Given the description of an element on the screen output the (x, y) to click on. 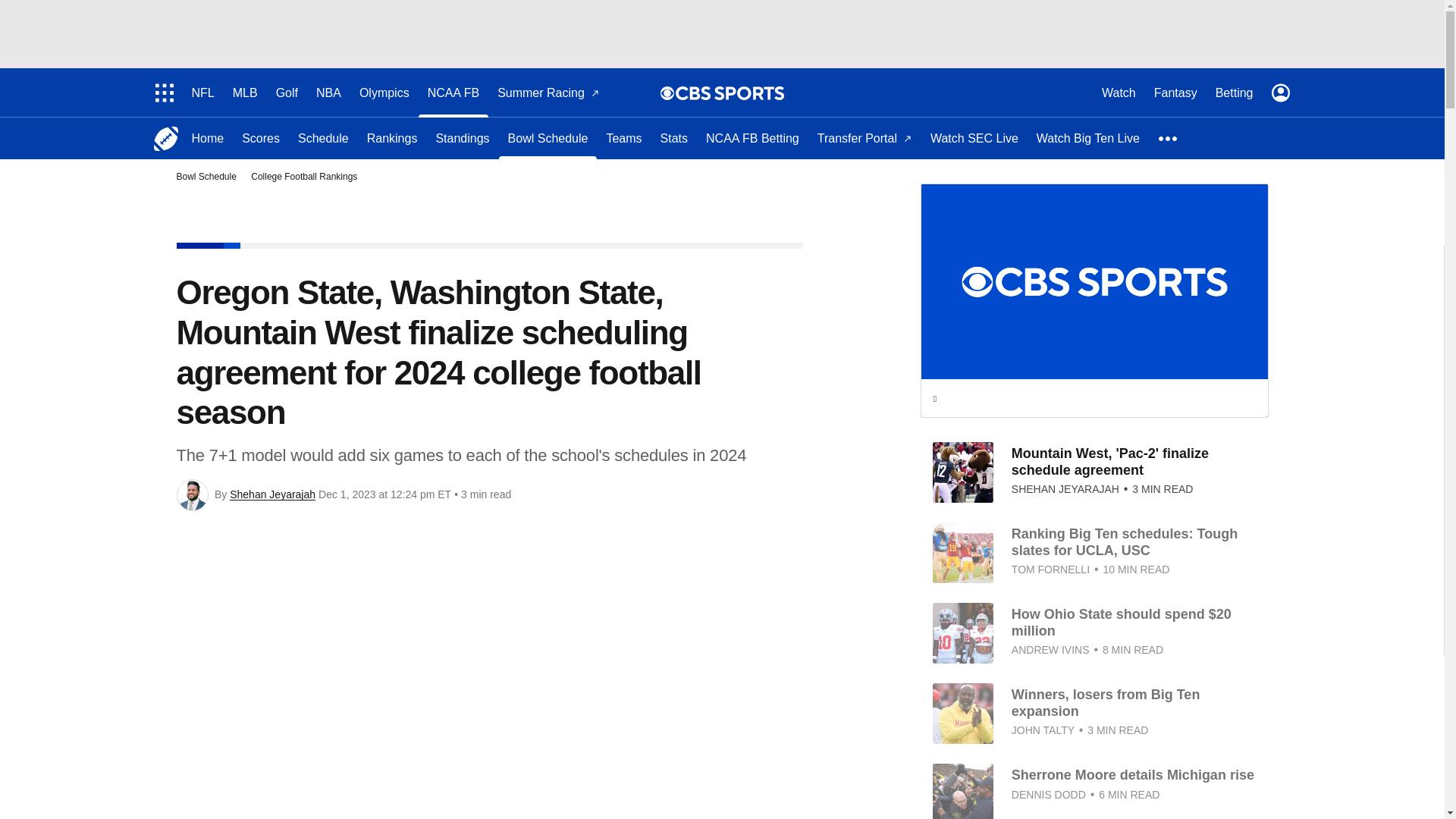
CBS Logo (729, 92)
CBS Eye (667, 92)
SportsNcaafb (164, 137)
